Given the description of an element on the screen output the (x, y) to click on. 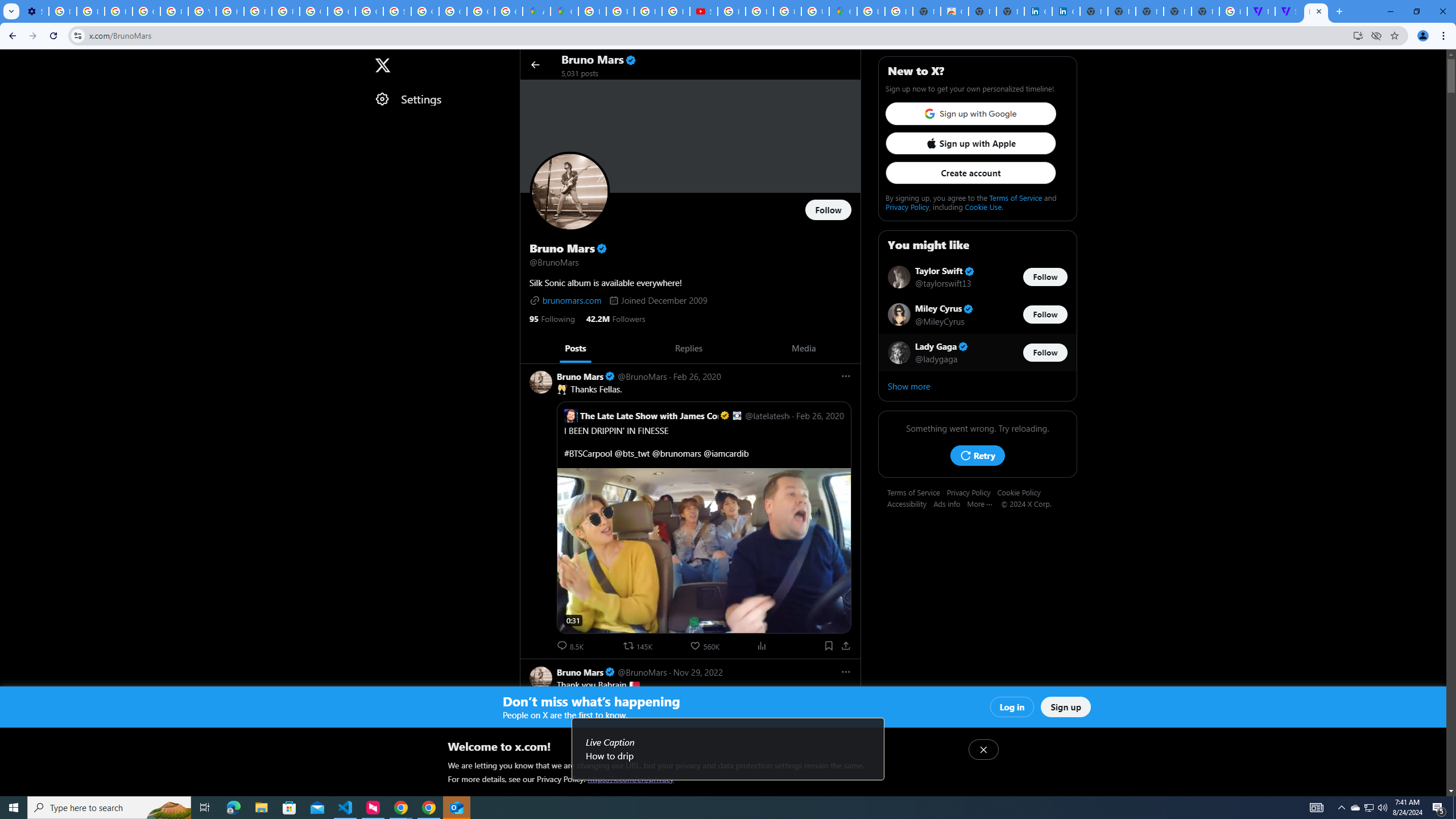
Forward (32, 35)
560057 Likes. Like (706, 645)
Bruno Mars Verified account (585, 671)
Sign up with Apple (970, 142)
Previous (532, 347)
Streaming - The Verge (1288, 11)
Privacy Policy (971, 492)
Lady Gaga Verified account (942, 345)
42.2M Followers (615, 318)
Search tabs (10, 11)
Skip to trending (10, 59)
You (1422, 35)
